Given the description of an element on the screen output the (x, y) to click on. 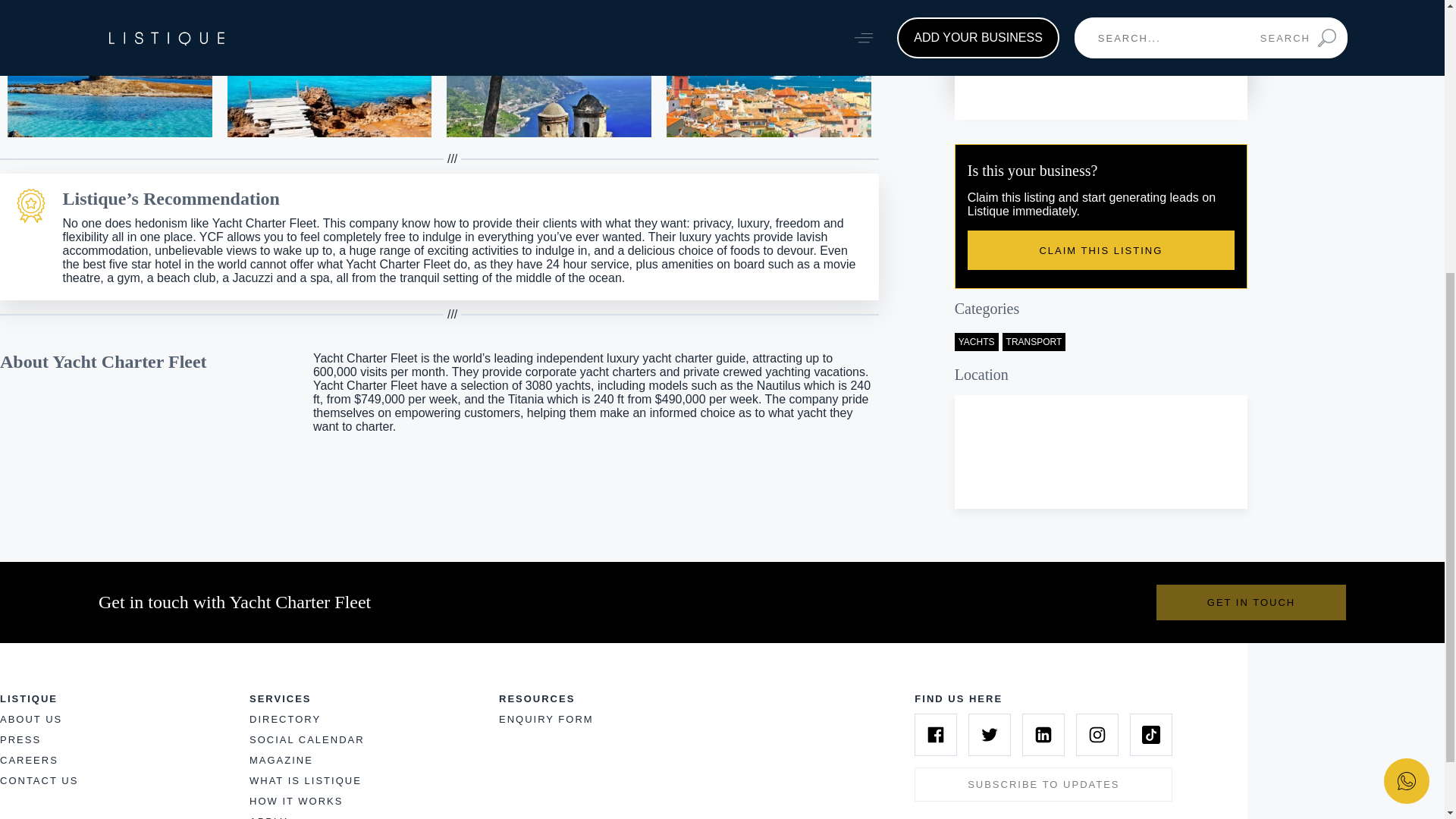
MAGAZINE (280, 759)
HOW IT WORKS (295, 800)
ENQUIRY FORM (546, 718)
WHAT IS LISTIQUE (304, 780)
GET IN TOUCH (1250, 601)
PRESS (20, 739)
DIRECTORY (284, 718)
ABOUT US (31, 718)
SOCIAL CALENDAR (306, 739)
CLAIM THIS LISTING (1101, 250)
CAREERS (29, 759)
CONTACT US (39, 780)
SUBSCRIBE TO UPDATES (1043, 784)
